Given the description of an element on the screen output the (x, y) to click on. 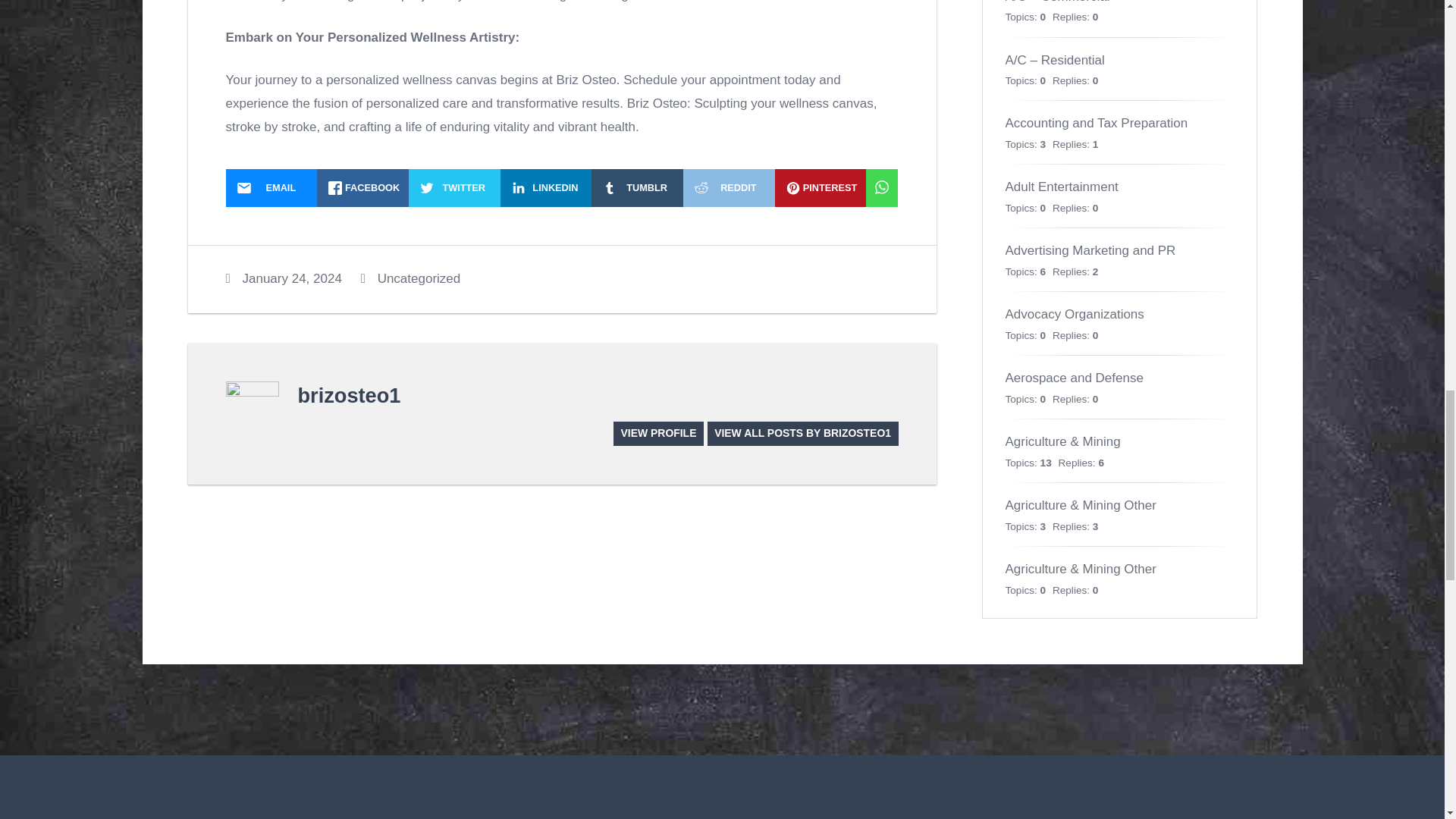
TWITTER (454, 187)
VIEW PROFILE (657, 433)
EMAIL (271, 187)
REDDIT (728, 187)
PINTEREST (820, 187)
Accounting and Tax Preparation (1097, 123)
LINKEDIN (546, 187)
FACEBOOK (363, 187)
TUMBLR (636, 187)
VIEW ALL POSTS BY BRIZOSTEO1 (802, 433)
brizosteo1 (348, 395)
Uncategorized (419, 278)
